Given the description of an element on the screen output the (x, y) to click on. 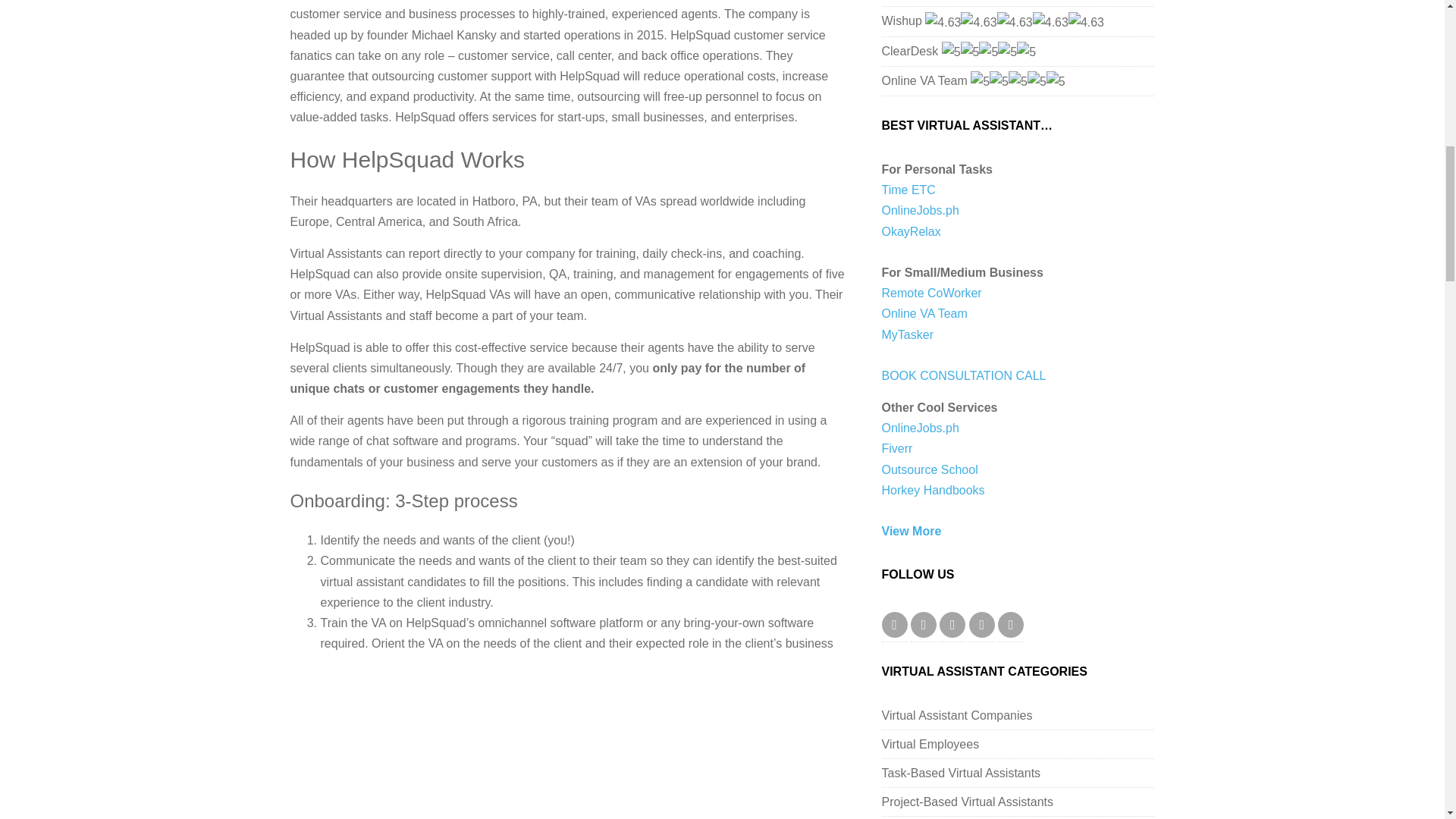
HelpSquad Staffed Chat Services Intro (531, 742)
